Given the description of an element on the screen output the (x, y) to click on. 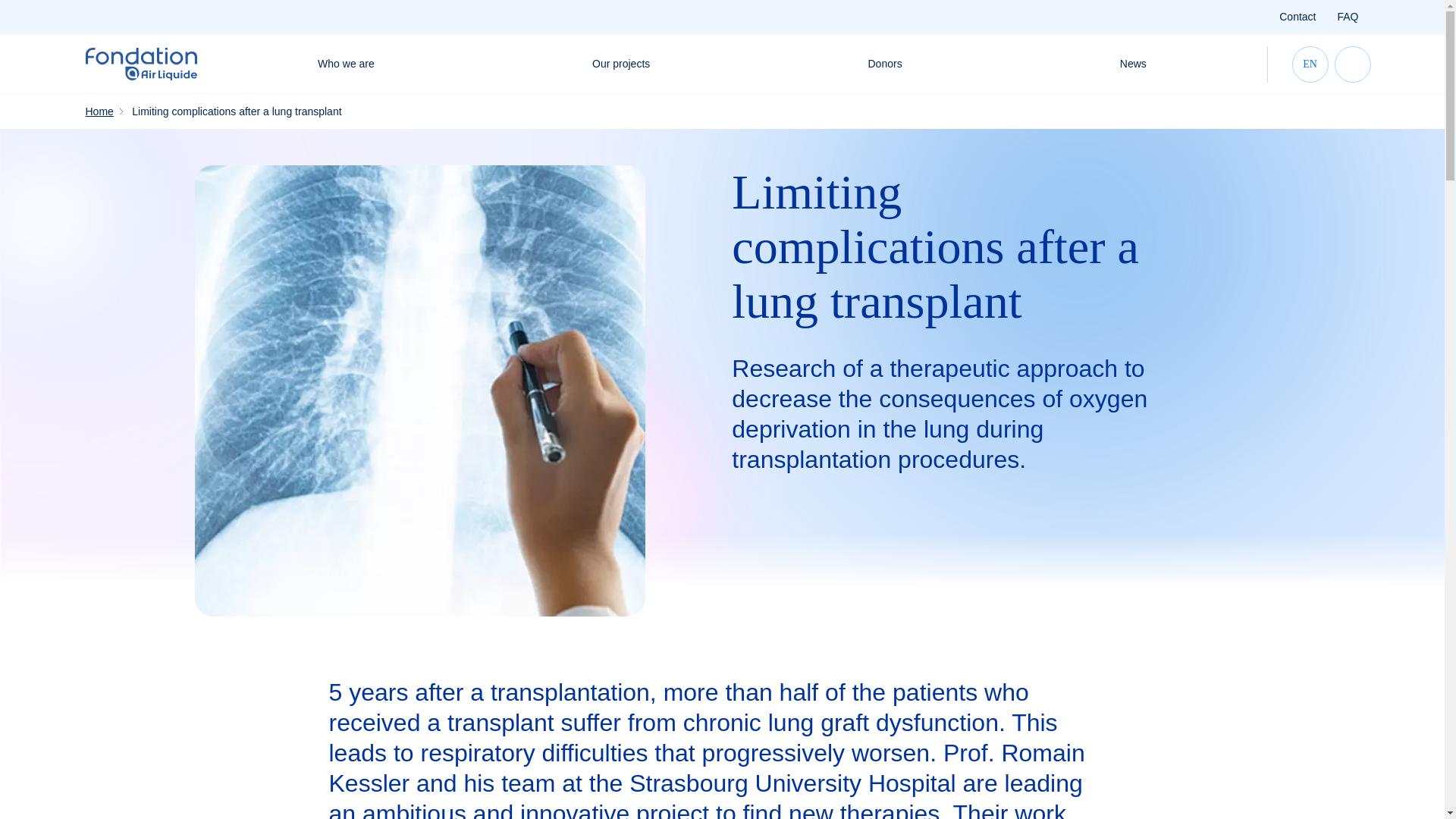
Our projects (620, 64)
Who we are (346, 64)
Contact (1297, 17)
Donors (885, 64)
FAQ (1347, 17)
